Given the description of an element on the screen output the (x, y) to click on. 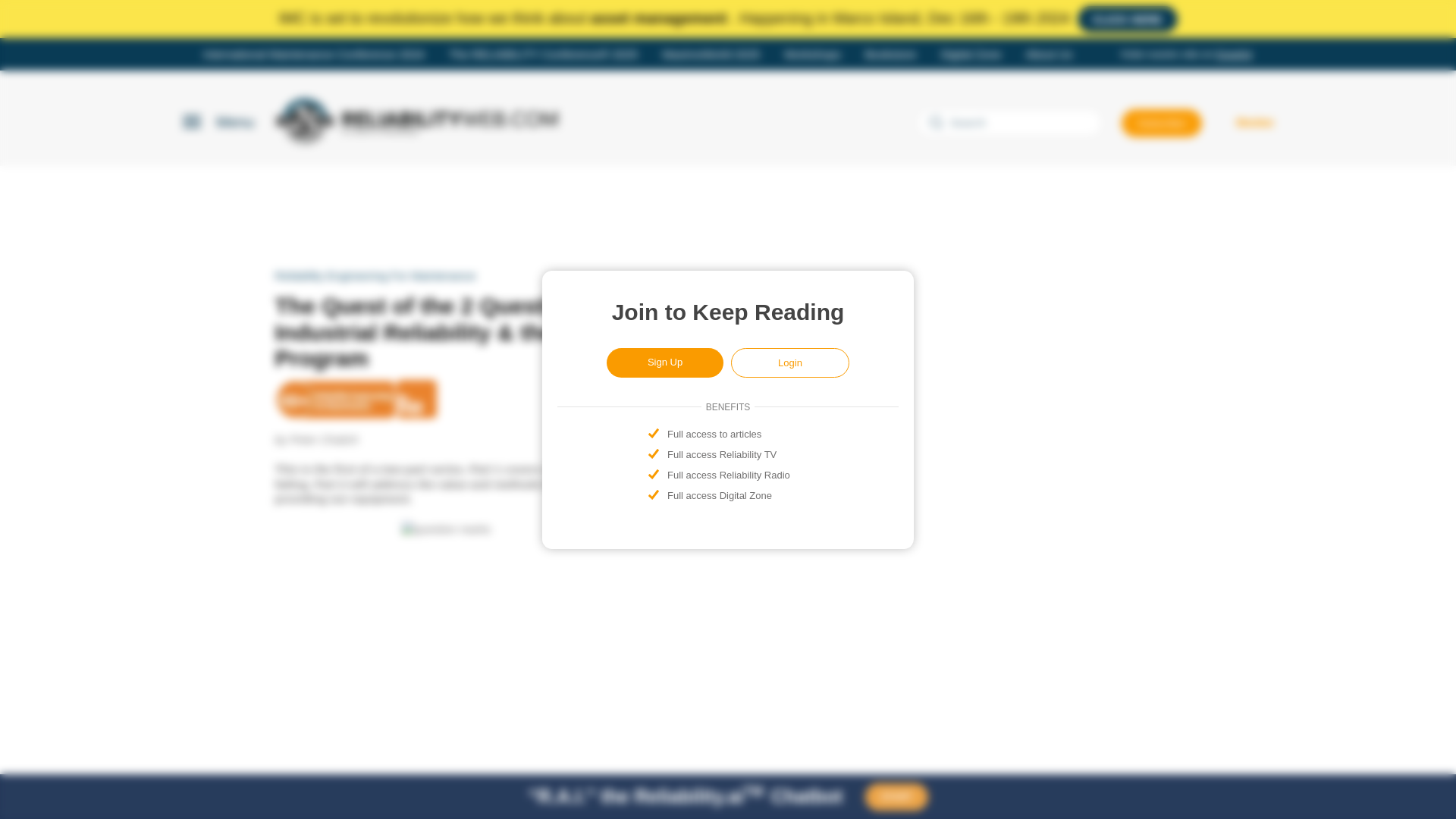
3rd party ad content (727, 213)
3rd party ad content (1065, 358)
3rd party ad content (1065, 563)
3rd party ad content (1065, 753)
